Given the description of an element on the screen output the (x, y) to click on. 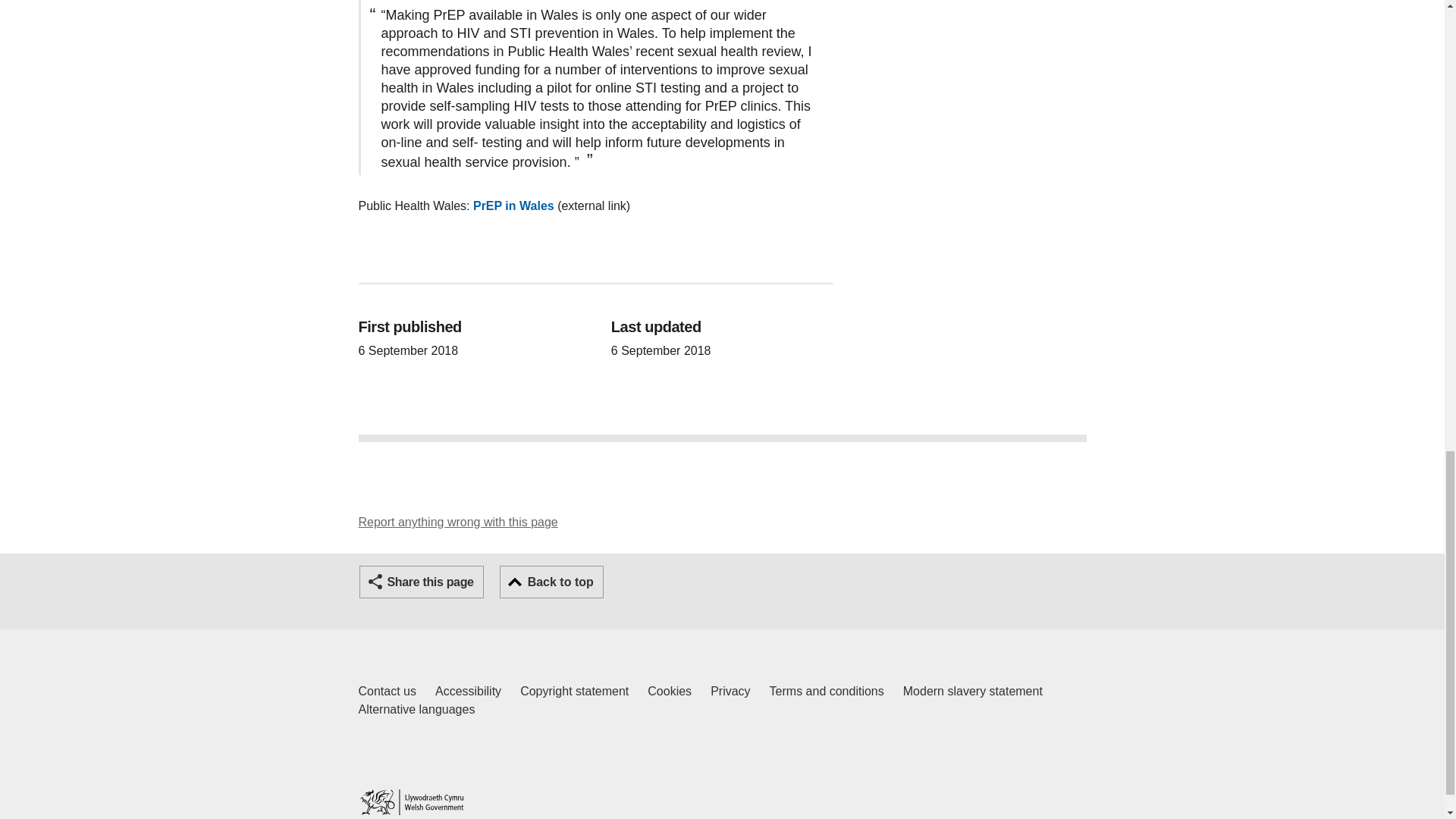
Home (386, 691)
Privacy (411, 801)
Cookies (729, 691)
Accessibility (669, 691)
Copyright statement (467, 691)
PrEP in Wales (573, 691)
Modern slavery statement (513, 205)
Alternative languages (972, 691)
Back to top (416, 710)
Report anything wrong with this page (551, 581)
Terms and conditions (457, 521)
